Given the description of an element on the screen output the (x, y) to click on. 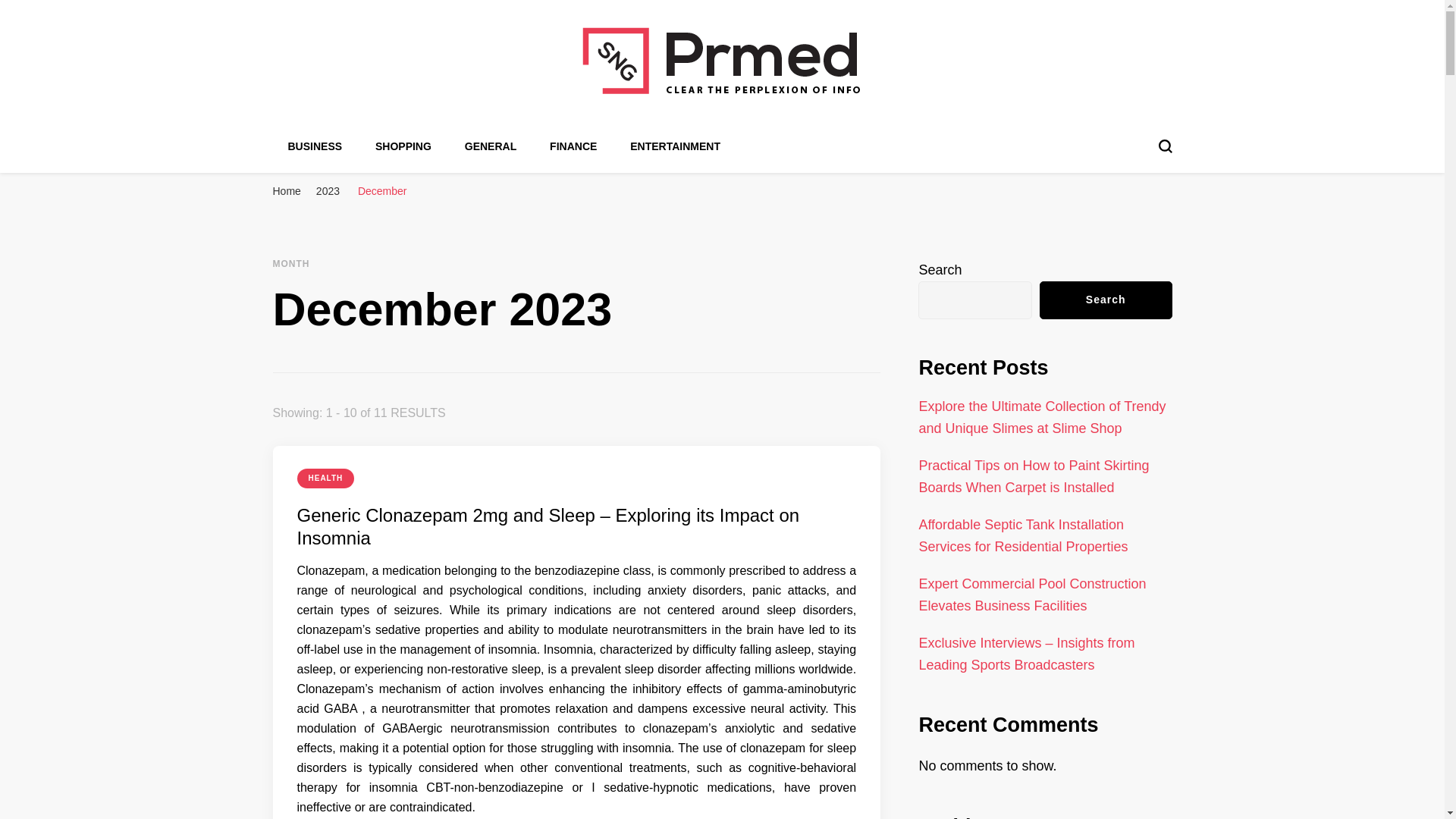
BUSINESS (315, 146)
Home (287, 191)
SHOPPING (402, 146)
HEALTH (326, 478)
GENERAL (490, 146)
ENTERTAINMENT (675, 146)
Sng Prmed (381, 126)
2023 (327, 191)
December (382, 191)
FINANCE (573, 146)
